Given the description of an element on the screen output the (x, y) to click on. 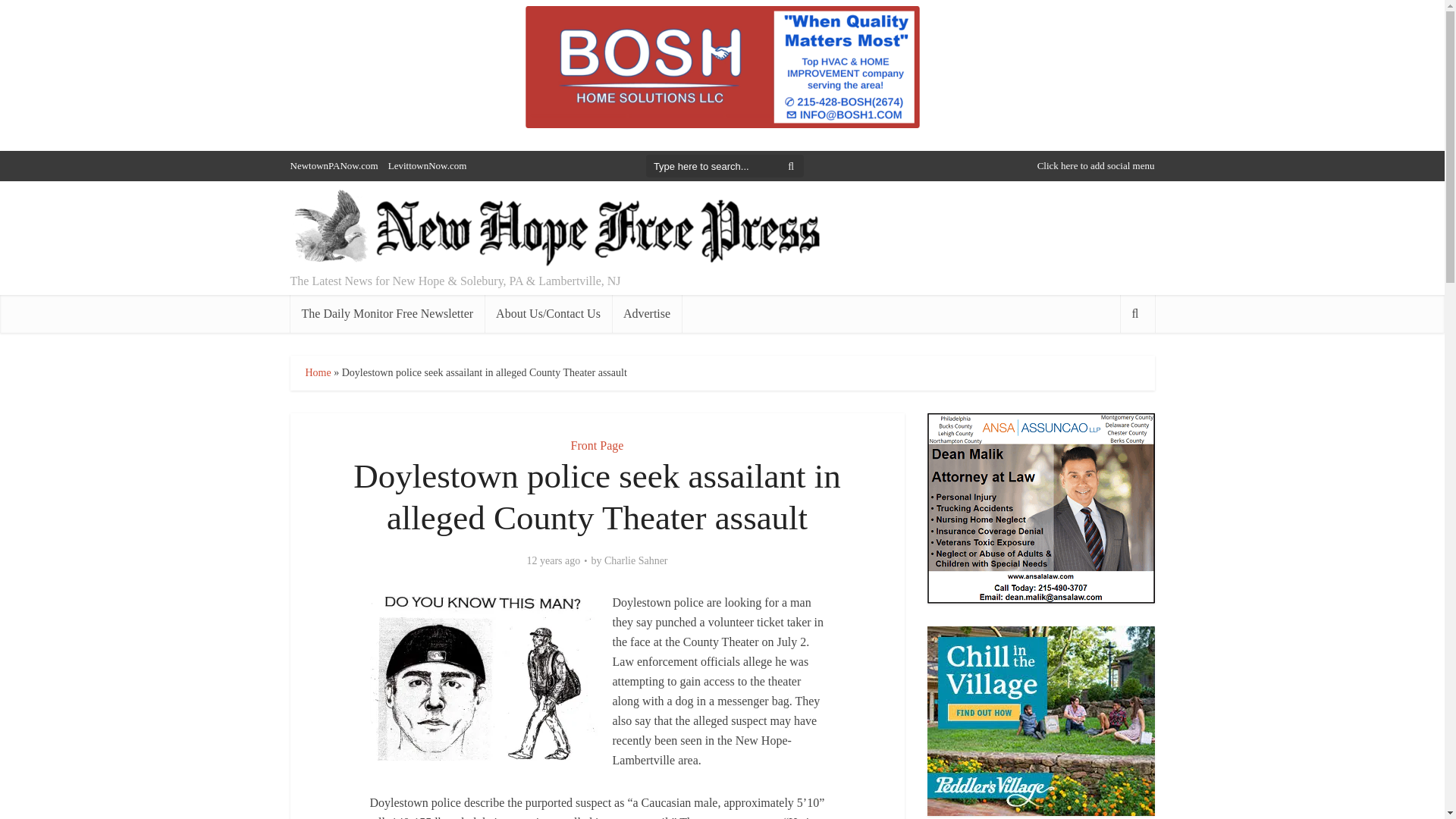
Front Page (597, 445)
sketch (482, 676)
Type here to search... (724, 165)
The Daily Monitor Free Newsletter (386, 313)
NewtownPANow.com (333, 165)
New Hope Free Press (555, 228)
LevittownNow.com (427, 165)
Charlie Sahner (636, 561)
Advertise (646, 313)
Click here to add social menu (1095, 165)
Type here to search... (724, 165)
Home (317, 372)
